Given the description of an element on the screen output the (x, y) to click on. 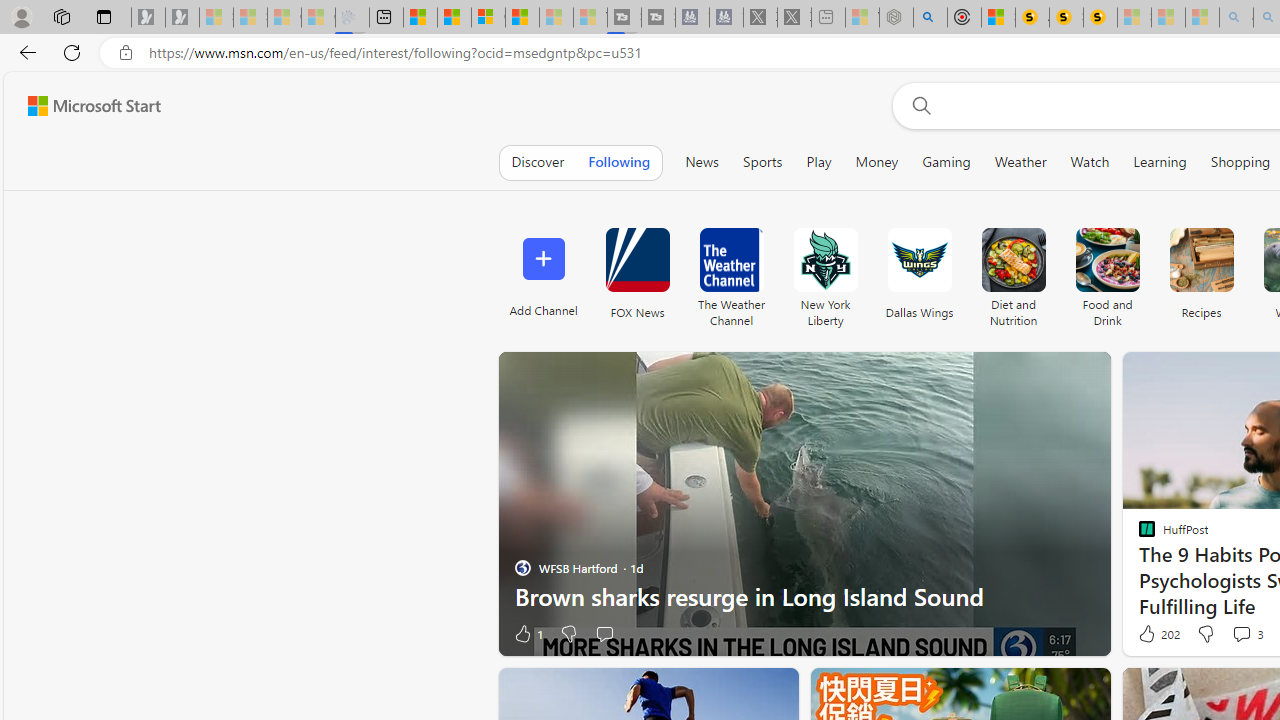
Gaming (946, 161)
Wildlife - MSN - Sleeping (862, 17)
News (701, 161)
202 Like (1157, 633)
FOX News (637, 260)
X - Sleeping (794, 17)
poe - Search (930, 17)
Start the conversation (604, 633)
Gaming (946, 162)
Sports (762, 162)
View comments 3 Comment (1247, 633)
